Given the description of an element on the screen output the (x, y) to click on. 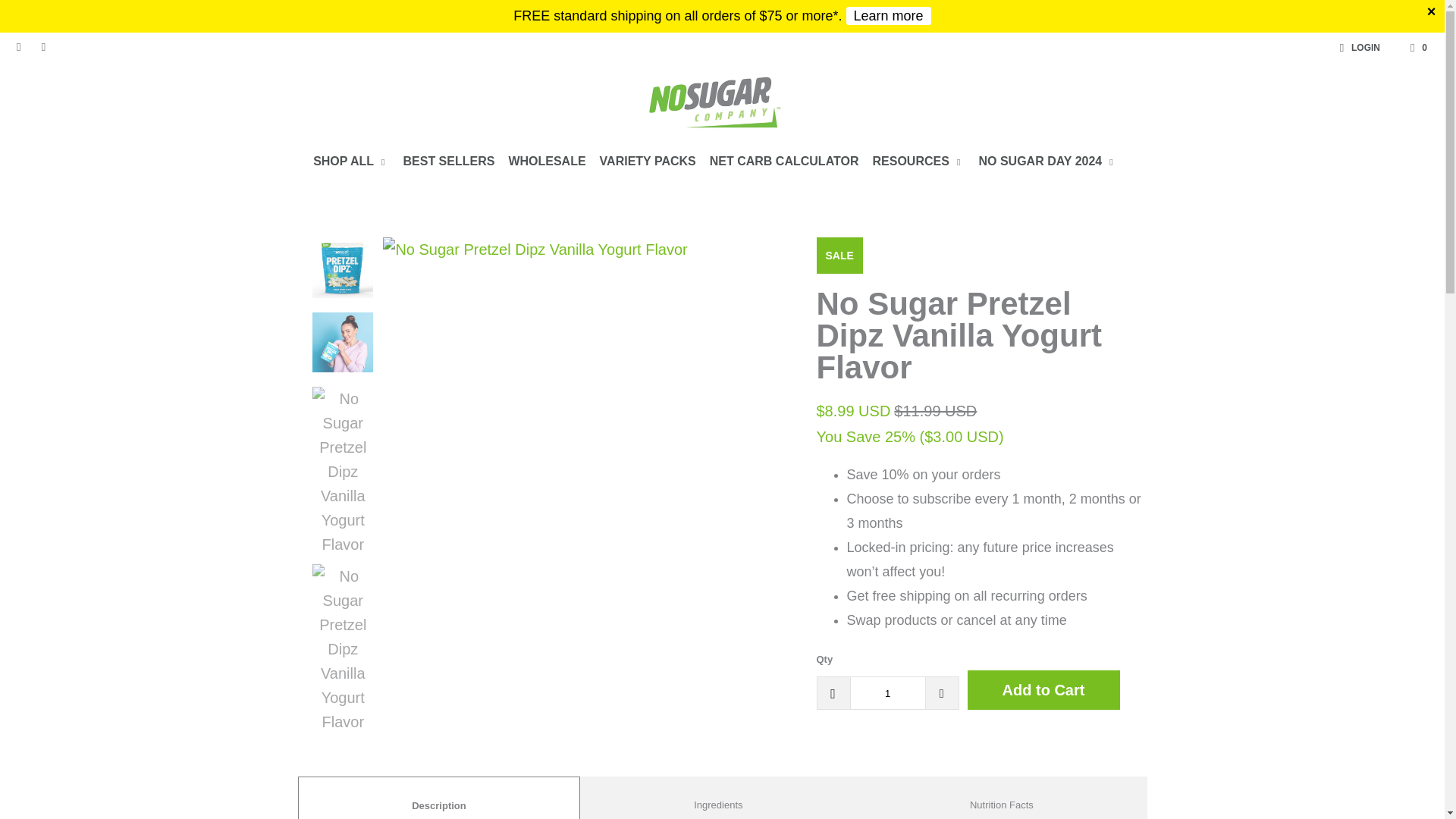
No Sugar Company Inc. (714, 105)
1 (886, 693)
Terms of Service (888, 15)
My Account  (1357, 47)
LOGIN (1357, 47)
Learn more (888, 15)
No Sugar Company Inc. on Facebook (17, 47)
No Sugar Company Inc. on Instagram (42, 47)
